Given the description of an element on the screen output the (x, y) to click on. 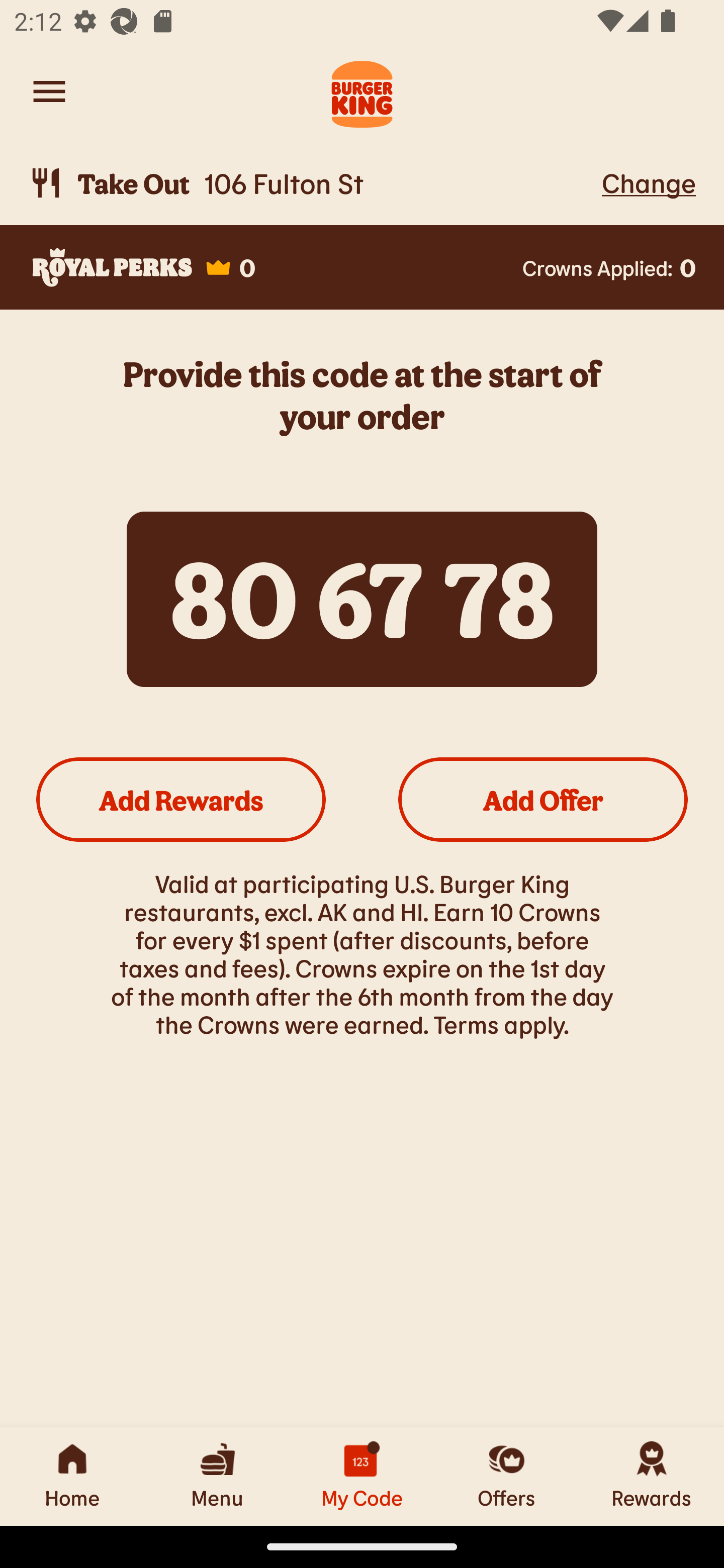
Burger King Logo. Navigate to Home (362, 91)
Navigate to account menu  (49, 91)
Take Out, 106 Fulton St  Take Out 106 Fulton St (311, 183)
Change (648, 182)
Add Rewards (180, 799)
Add Offer (542, 799)
Home (72, 1475)
Menu (216, 1475)
My Code (361, 1475)
Offers (506, 1475)
Rewards (651, 1475)
